Given the description of an element on the screen output the (x, y) to click on. 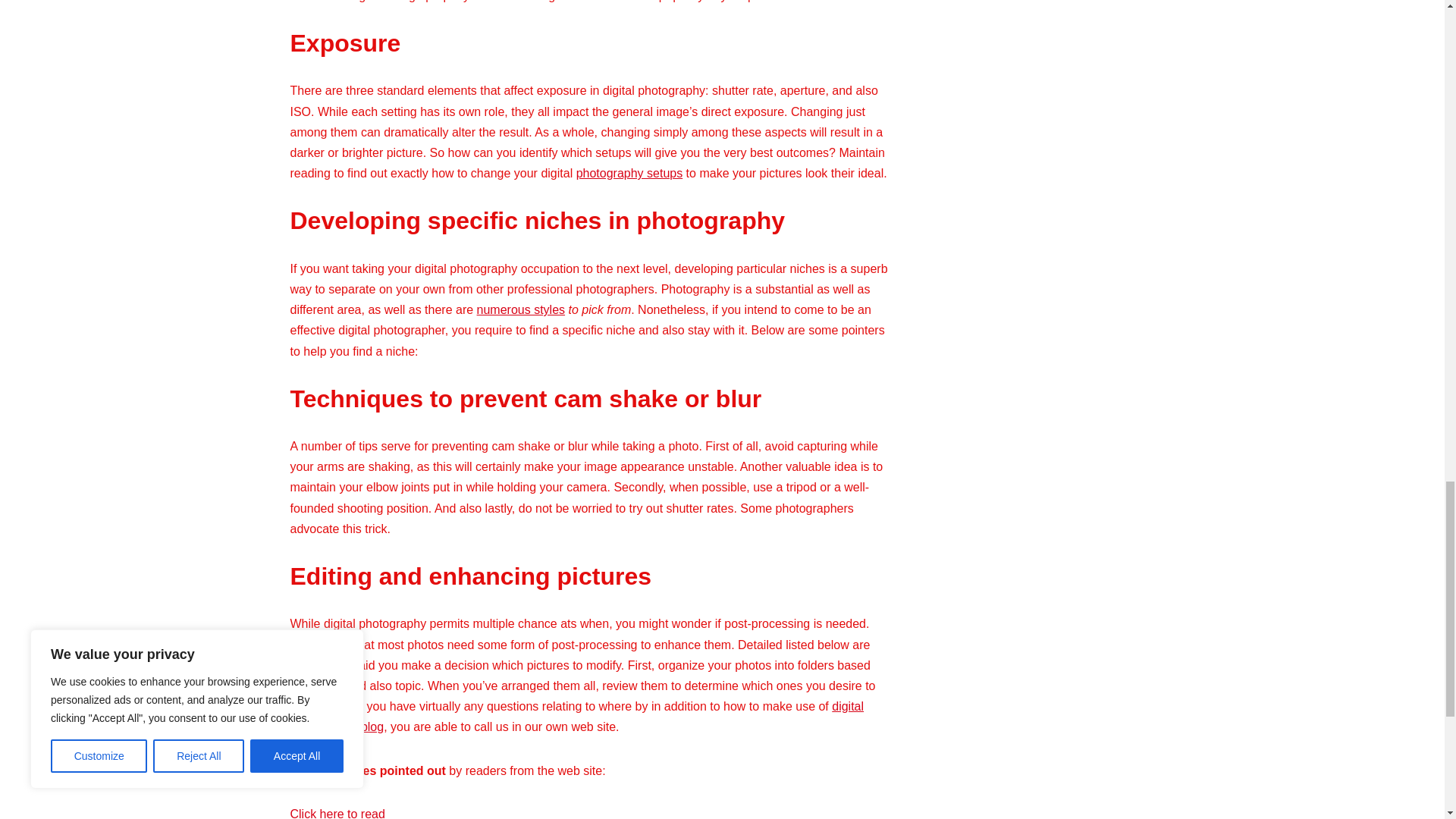
photography setups (629, 173)
Click here to read (336, 813)
digital photography blog (576, 716)
numerous styles (521, 309)
